Given the description of an element on the screen output the (x, y) to click on. 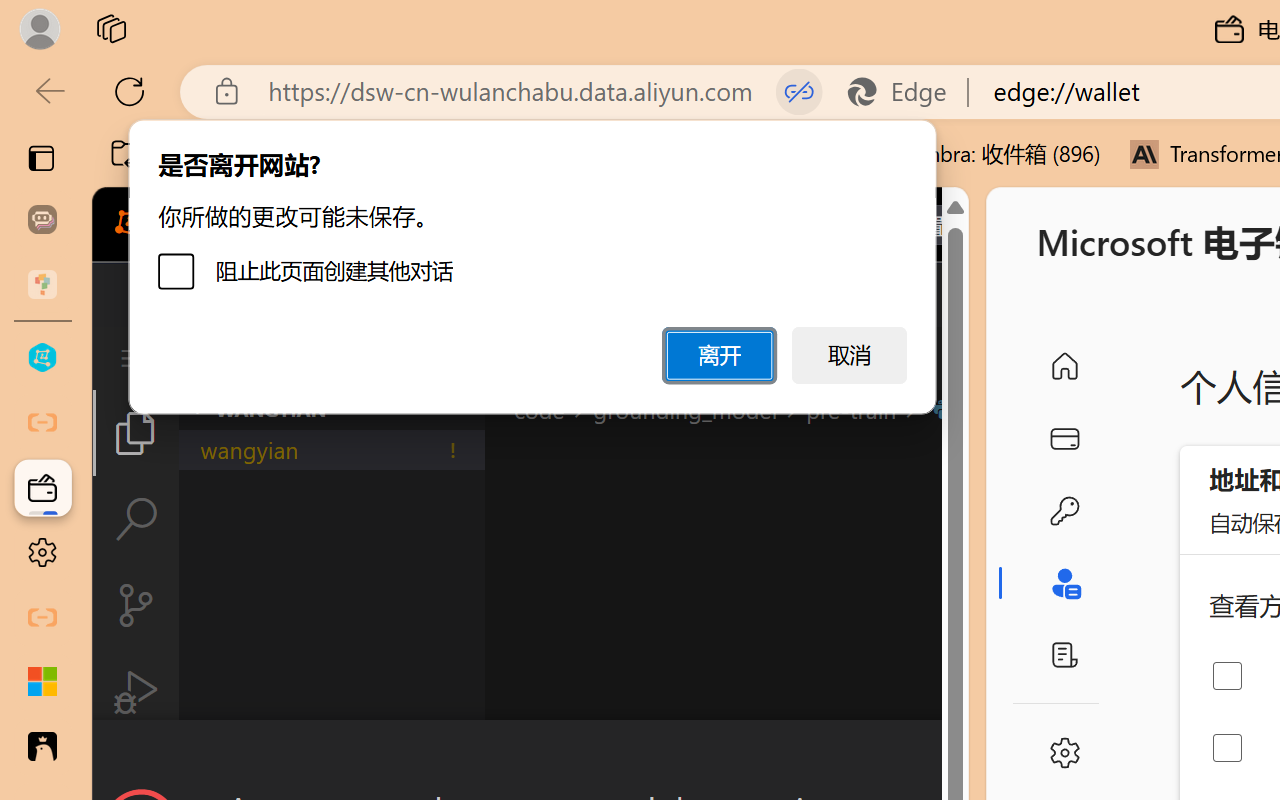
Close Dialog (959, 756)
Microsoft security help and learning (42, 681)
Class: actions-container (529, 756)
Run and Debug (Ctrl+Shift+D) (135, 692)
